Given the description of an element on the screen output the (x, y) to click on. 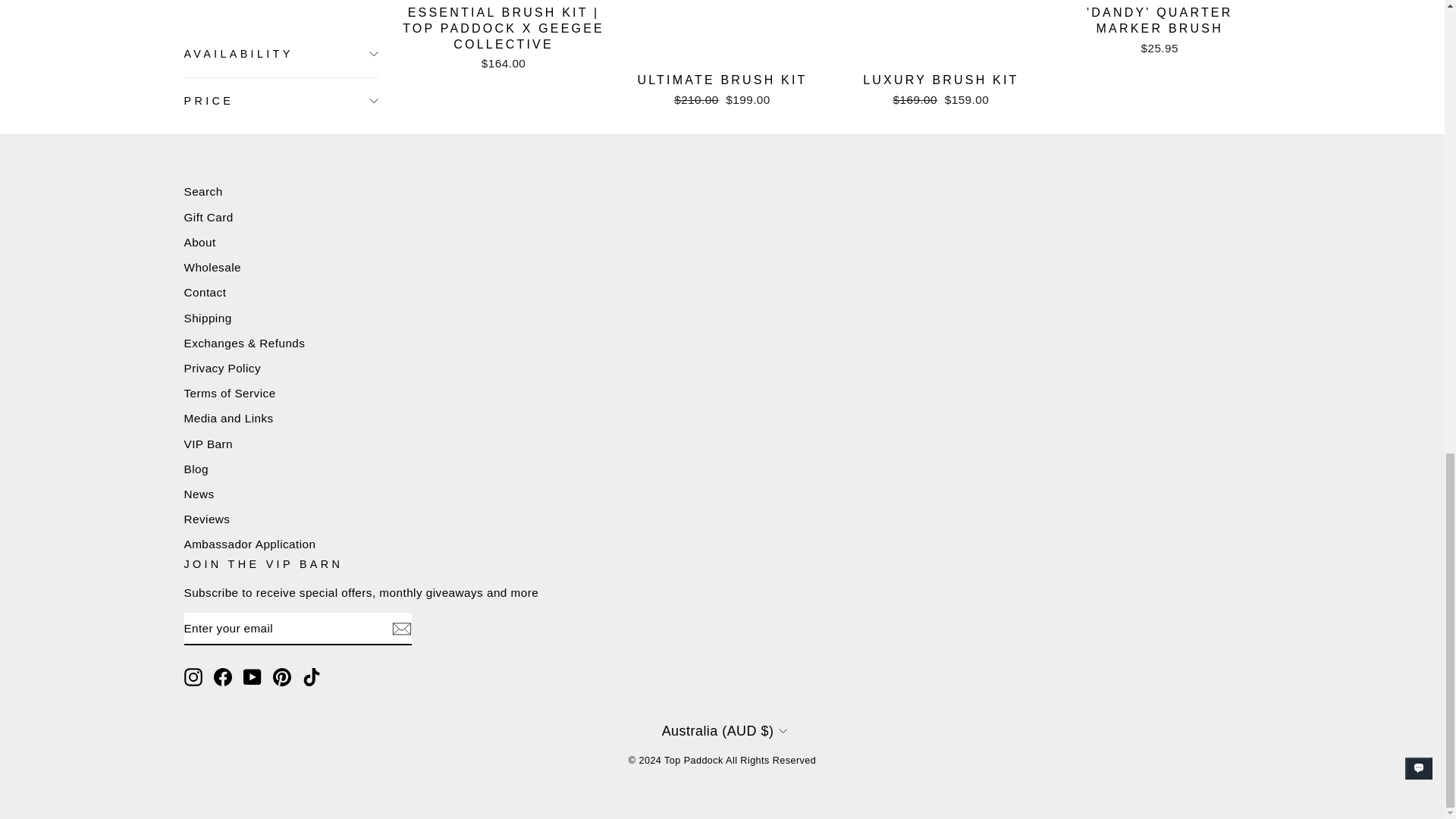
icon-email (400, 628)
Top Paddock on TikTok (310, 677)
instagram (192, 677)
Top Paddock on YouTube (251, 677)
Top Paddock on Facebook (222, 677)
Top Paddock on Instagram (192, 677)
Top Paddock on Pinterest (282, 677)
